Given the description of an element on the screen output the (x, y) to click on. 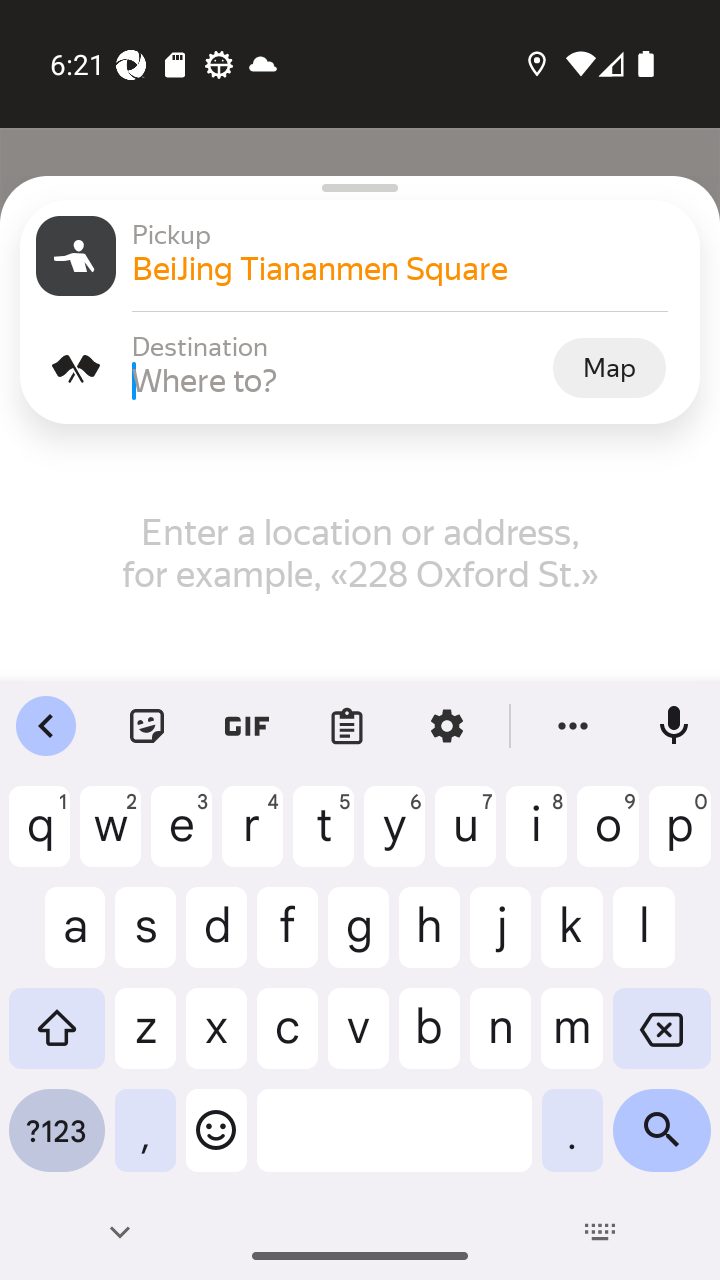
Pickup Pickup BeiJing Tiananmen Square (359, 255)
BeiJing Tiananmen Square (407, 268)
Destination Destination Where to? Map (359, 367)
Map (609, 367)
Where to? (340, 380)
